Given the description of an element on the screen output the (x, y) to click on. 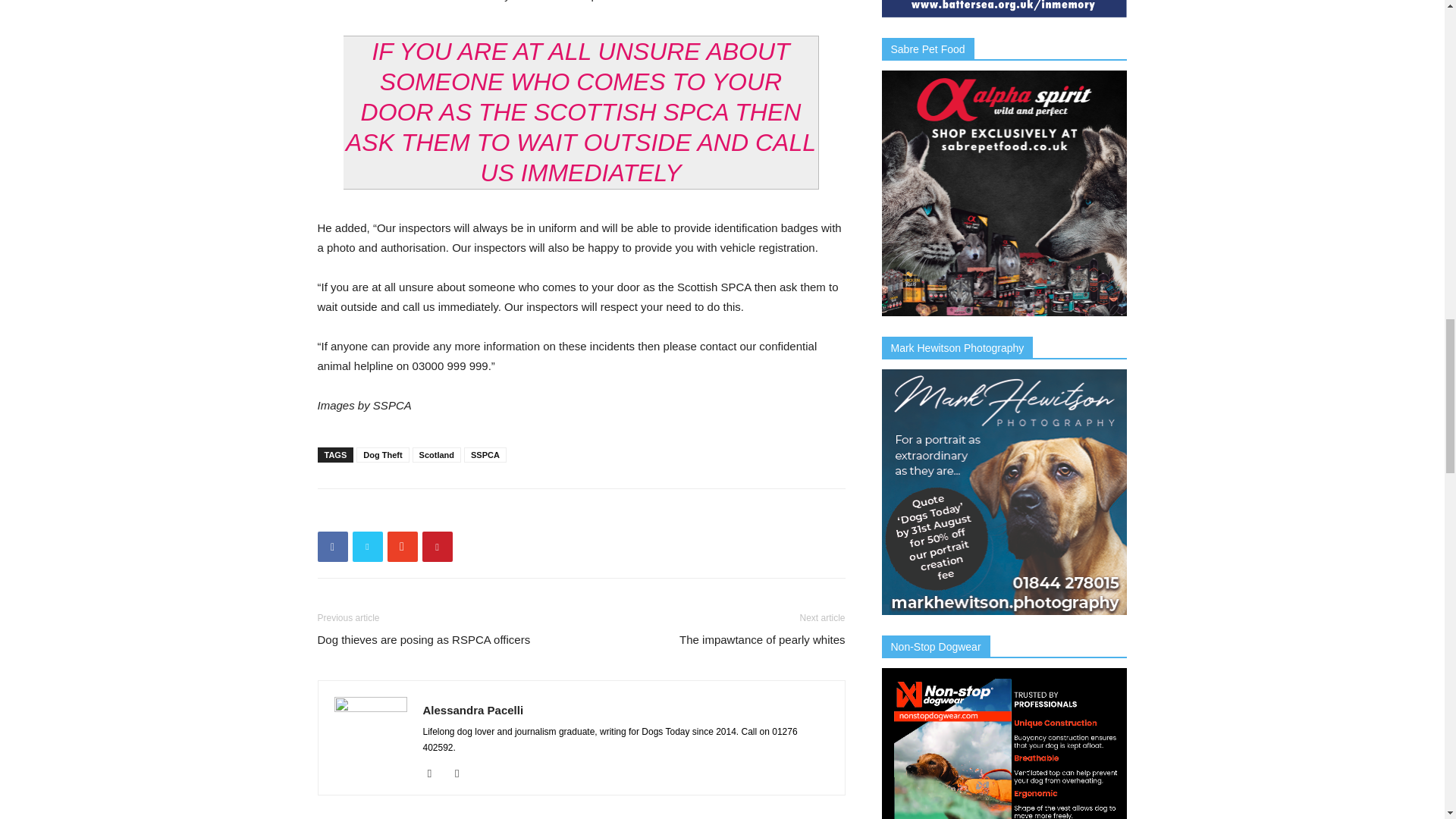
Twitter (462, 773)
Facebook (435, 773)
